Given the description of an element on the screen output the (x, y) to click on. 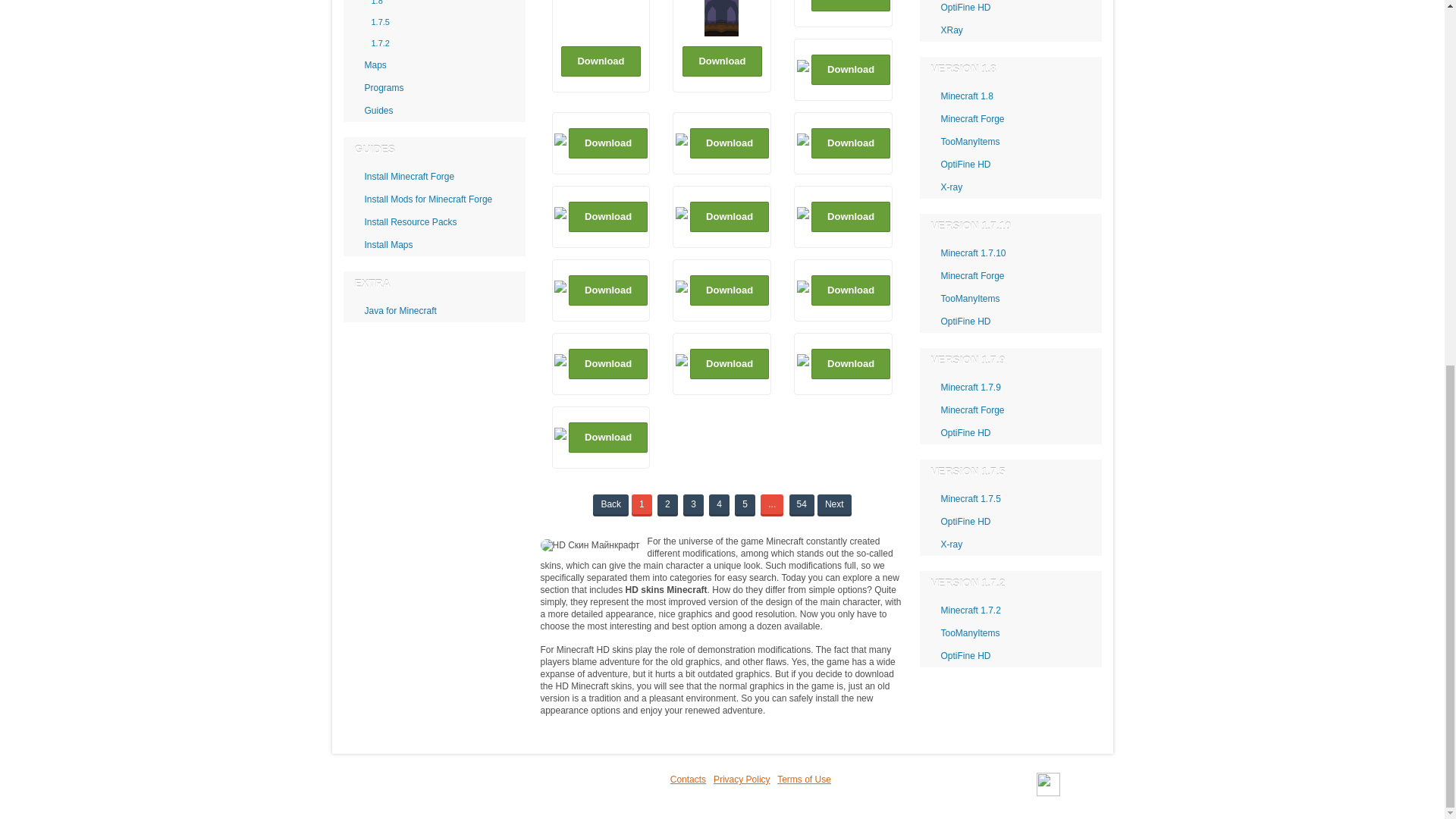
Download (721, 60)
Download (729, 363)
Download (849, 5)
5 (745, 504)
Download (608, 437)
Download (849, 69)
Download (729, 142)
Download (608, 290)
4 (719, 504)
54 (801, 504)
Download (600, 60)
Download (849, 142)
Download (849, 290)
Download (729, 290)
Next (833, 504)
